Given the description of an element on the screen output the (x, y) to click on. 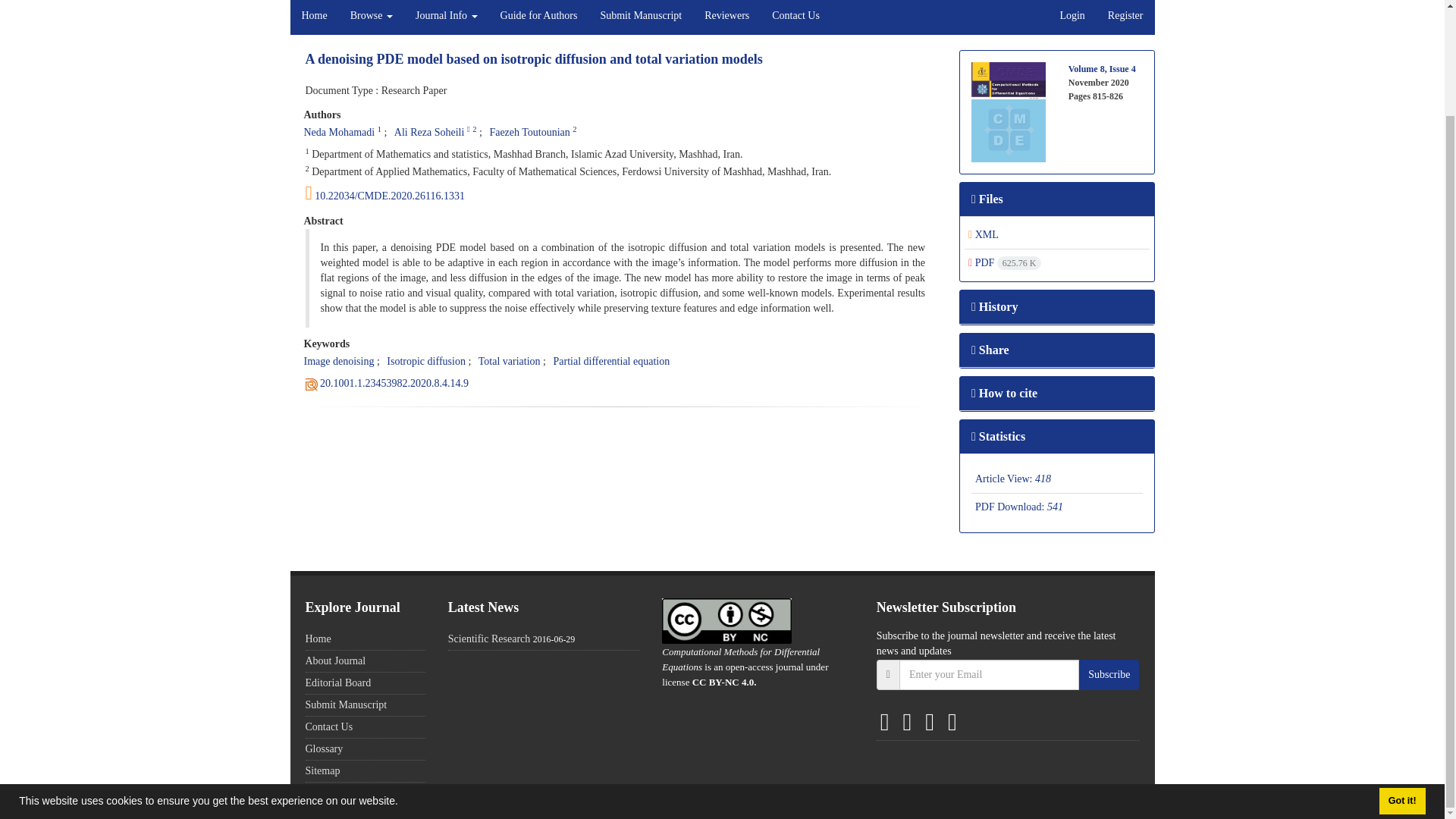
Login (1072, 17)
Register (1125, 17)
Home (313, 17)
Browse (371, 17)
Journal Info (446, 17)
Neda Mohamadi (338, 132)
DOR (394, 383)
Got it! (1401, 676)
Ali Reza Soheili (429, 132)
Contact Us (795, 17)
Faezeh Toutounian (529, 132)
Image denoising (338, 360)
DOI (620, 192)
Reviewers (726, 17)
